Given the description of an element on the screen output the (x, y) to click on. 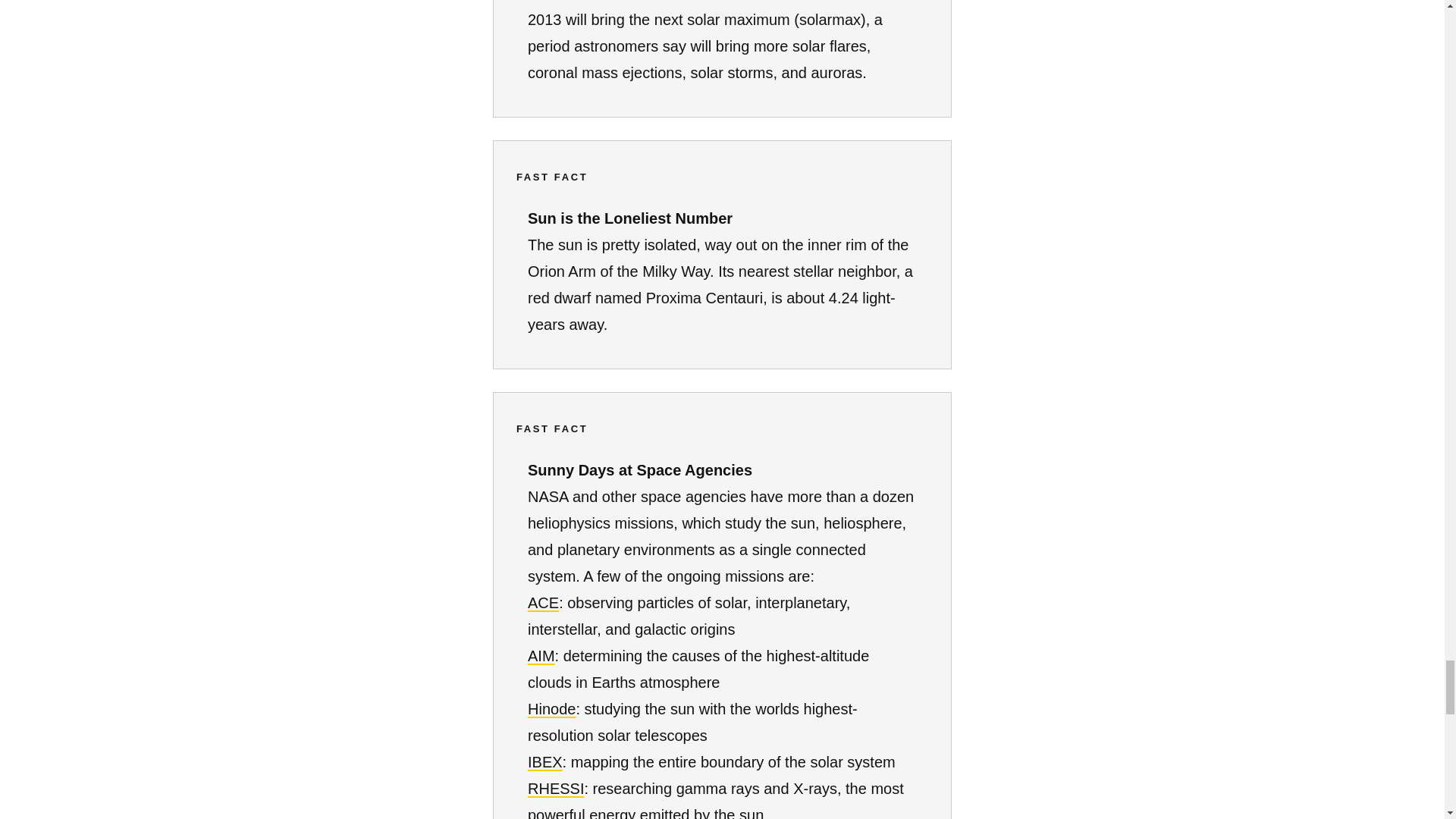
ACE (543, 602)
Hinode (551, 709)
RHESSI (555, 788)
AIM (540, 655)
IBEX (544, 761)
